Given the description of an element on the screen output the (x, y) to click on. 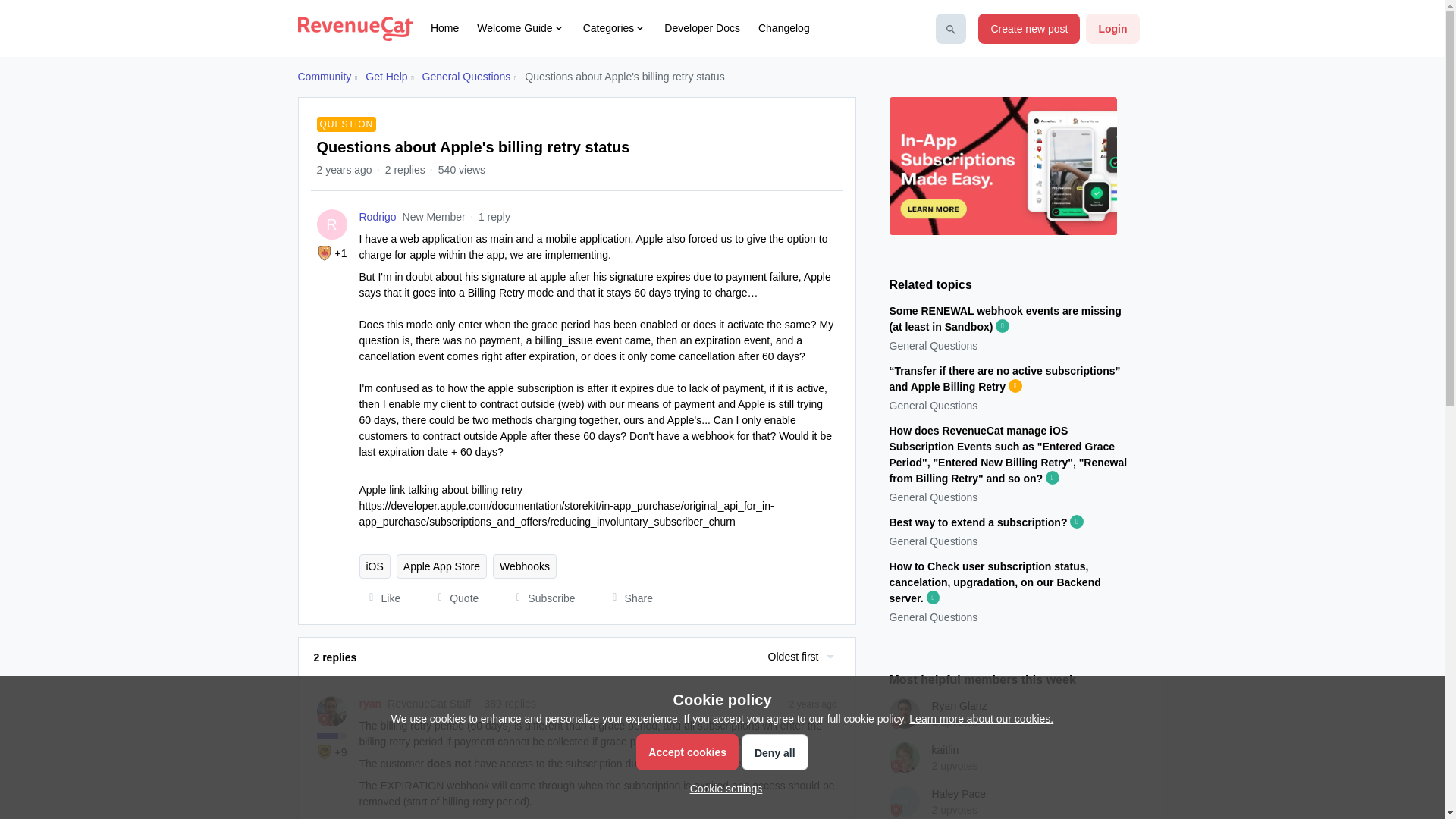
Rodrigo (377, 217)
Webhooks (524, 566)
Welcome Guide (520, 28)
Create new post (1029, 28)
Apple App Store (441, 566)
ryan (370, 703)
Community (323, 76)
Get Help (386, 76)
RevenueCat Staff (323, 719)
R (332, 224)
Create new post (1029, 28)
Login (1112, 28)
Rodrigo (377, 217)
One Year Wiser (324, 253)
Developer Docs (701, 28)
